Given the description of an element on the screen output the (x, y) to click on. 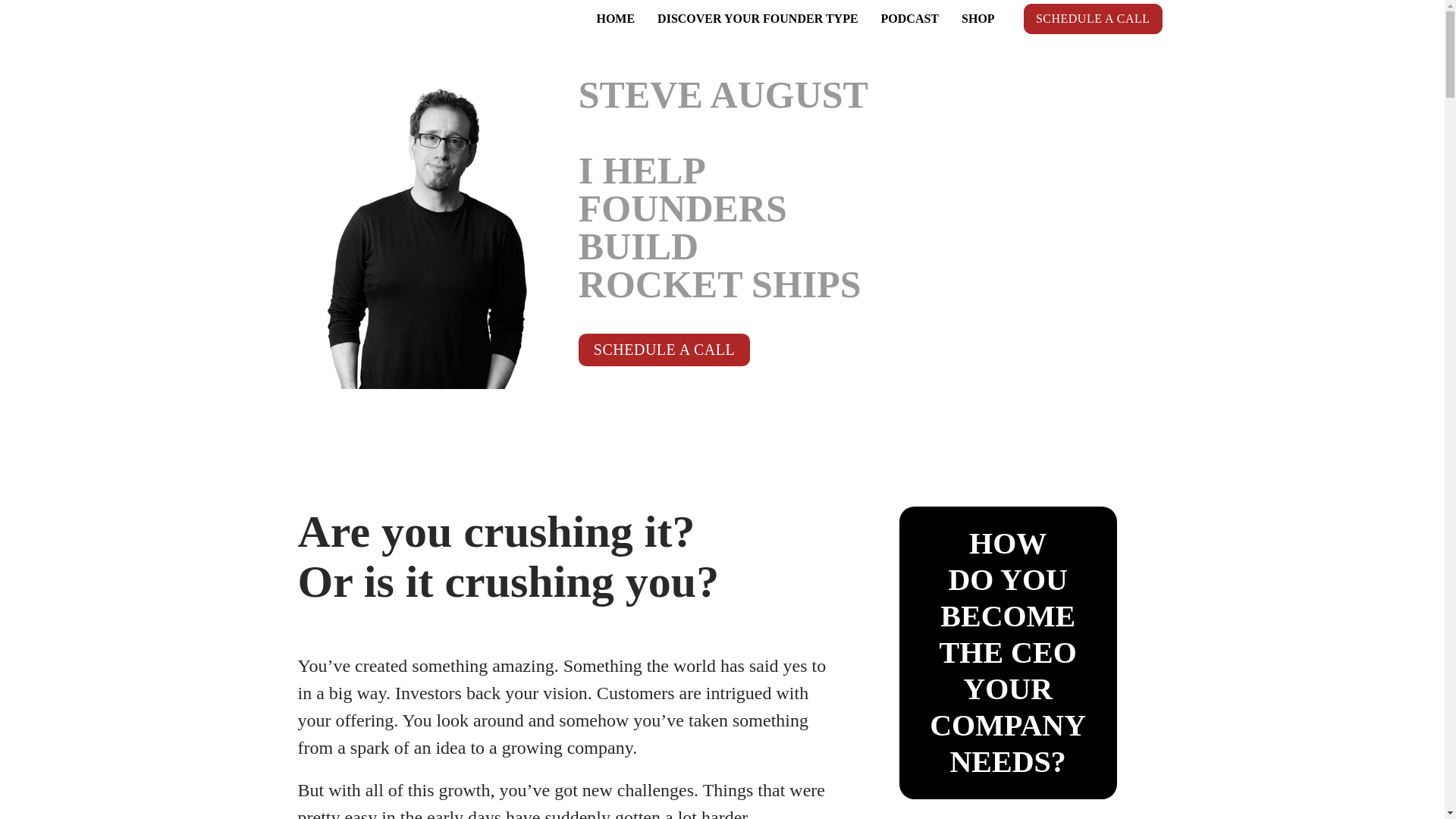
HOME (615, 19)
SHOP (978, 19)
DISCOVER YOUR FOUNDER TYPE (757, 19)
SCHEDULE A CALL (1092, 19)
SCHEDULE A CALL (663, 349)
PODCAST (909, 19)
